Given the description of an element on the screen output the (x, y) to click on. 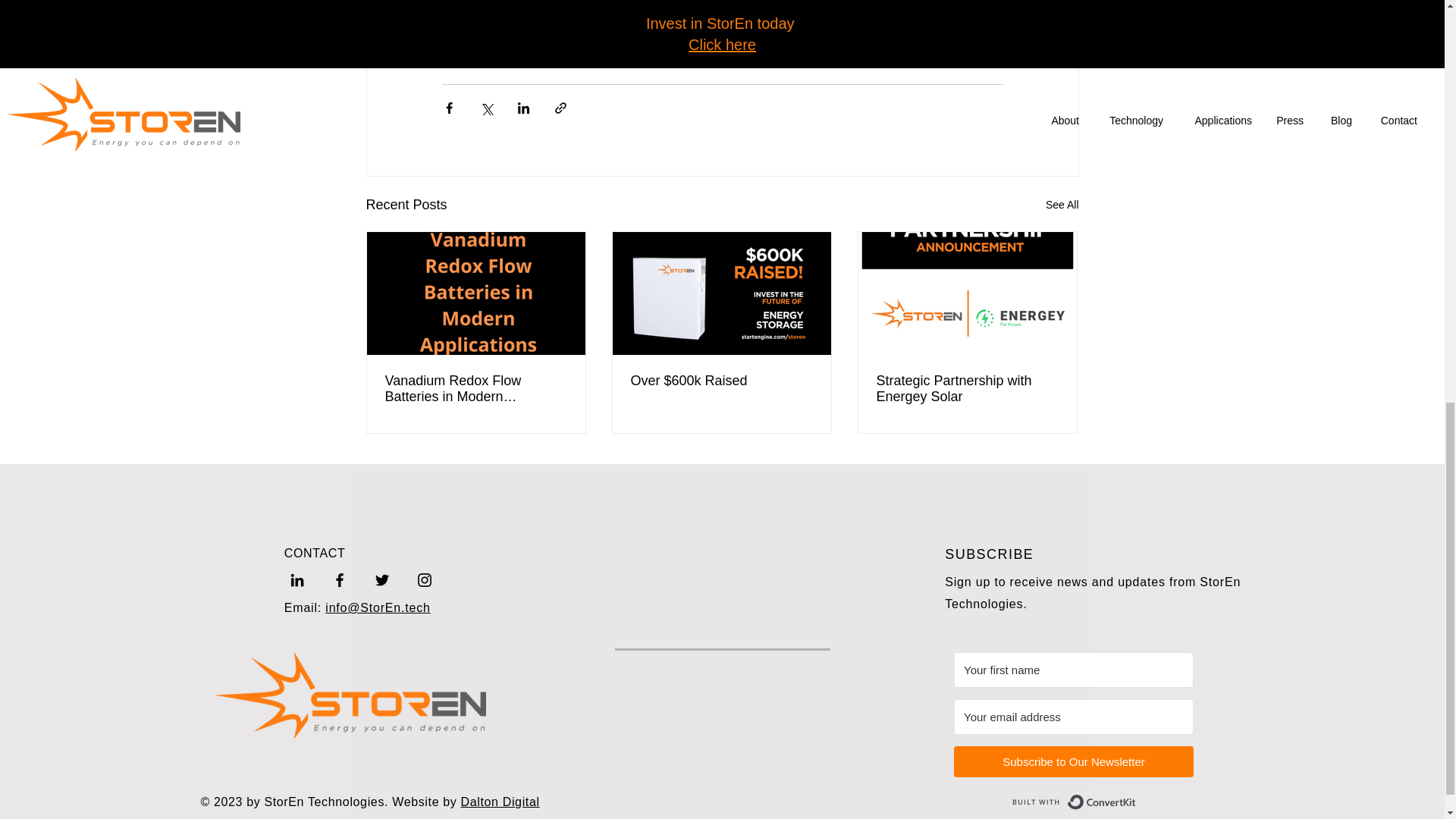
Vanadium Redox Flow Batteries in Modern Applications (476, 388)
Strategic Partnership with Energey Solar (967, 388)
See All (1061, 205)
Dalton Digital (500, 801)
